Given the description of an element on the screen output the (x, y) to click on. 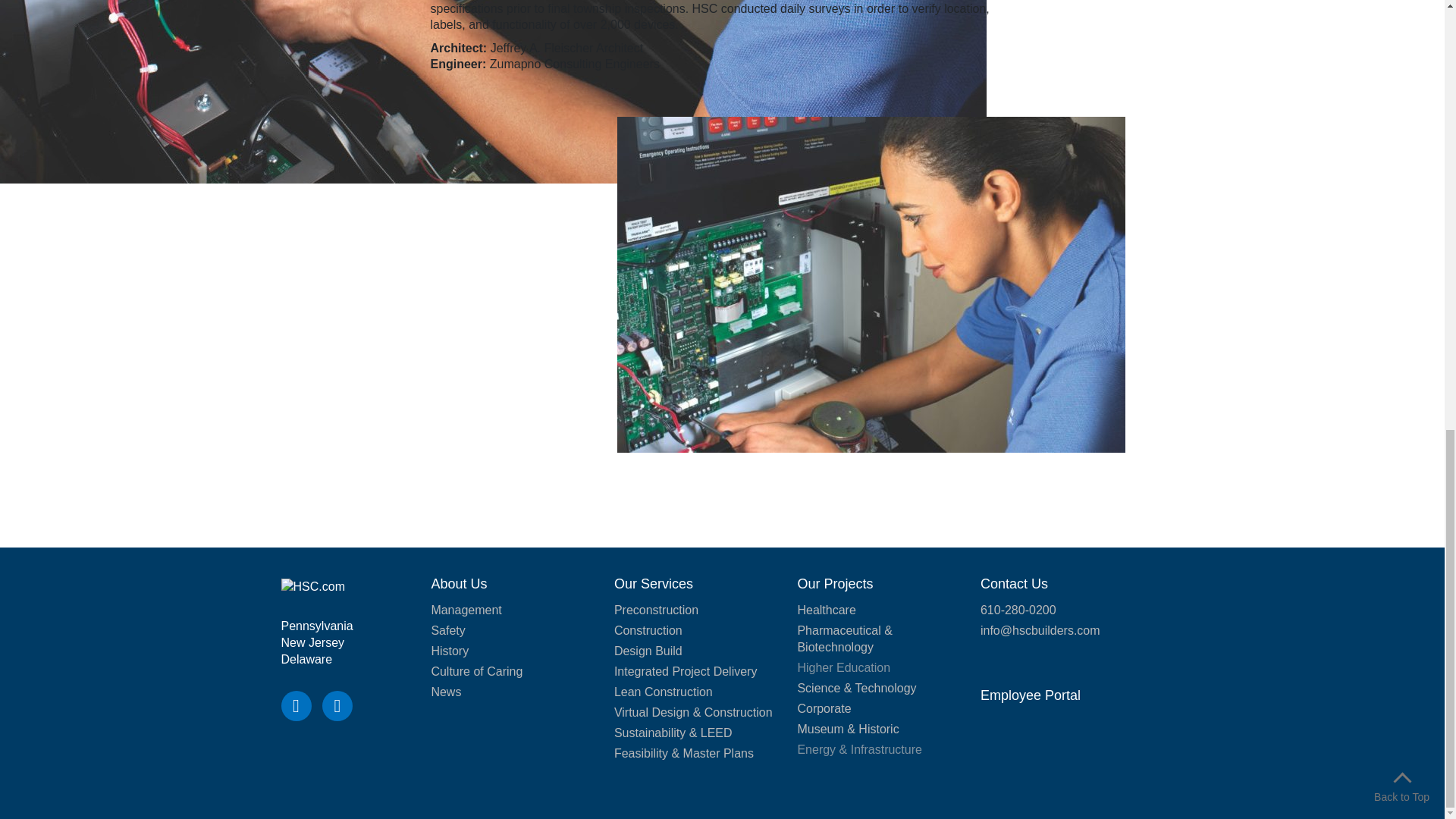
Our Services (653, 583)
About Us (458, 583)
Culture of Caring (476, 671)
Construction (648, 630)
History (449, 650)
Management (465, 609)
News (445, 691)
Preconstruction (656, 609)
Safety (447, 630)
